Given the description of an element on the screen output the (x, y) to click on. 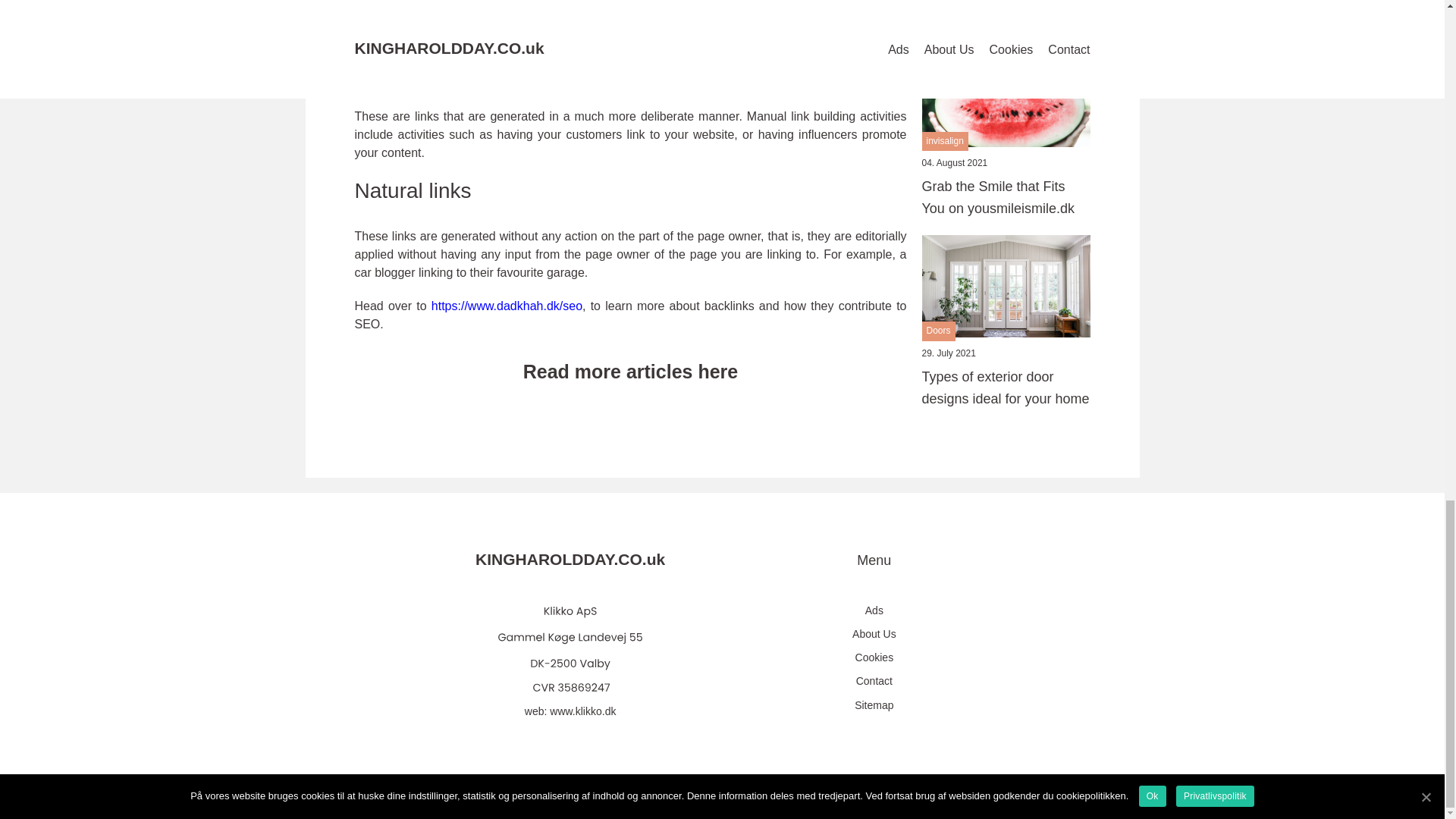
www.klikko.dk (582, 711)
KINGHAROLDDAY.CO.uk (570, 562)
Contact (874, 681)
About Us (873, 634)
Ads (873, 610)
Read more articles here (631, 371)
Cookies (874, 657)
Sitemap (873, 704)
